Given the description of an element on the screen output the (x, y) to click on. 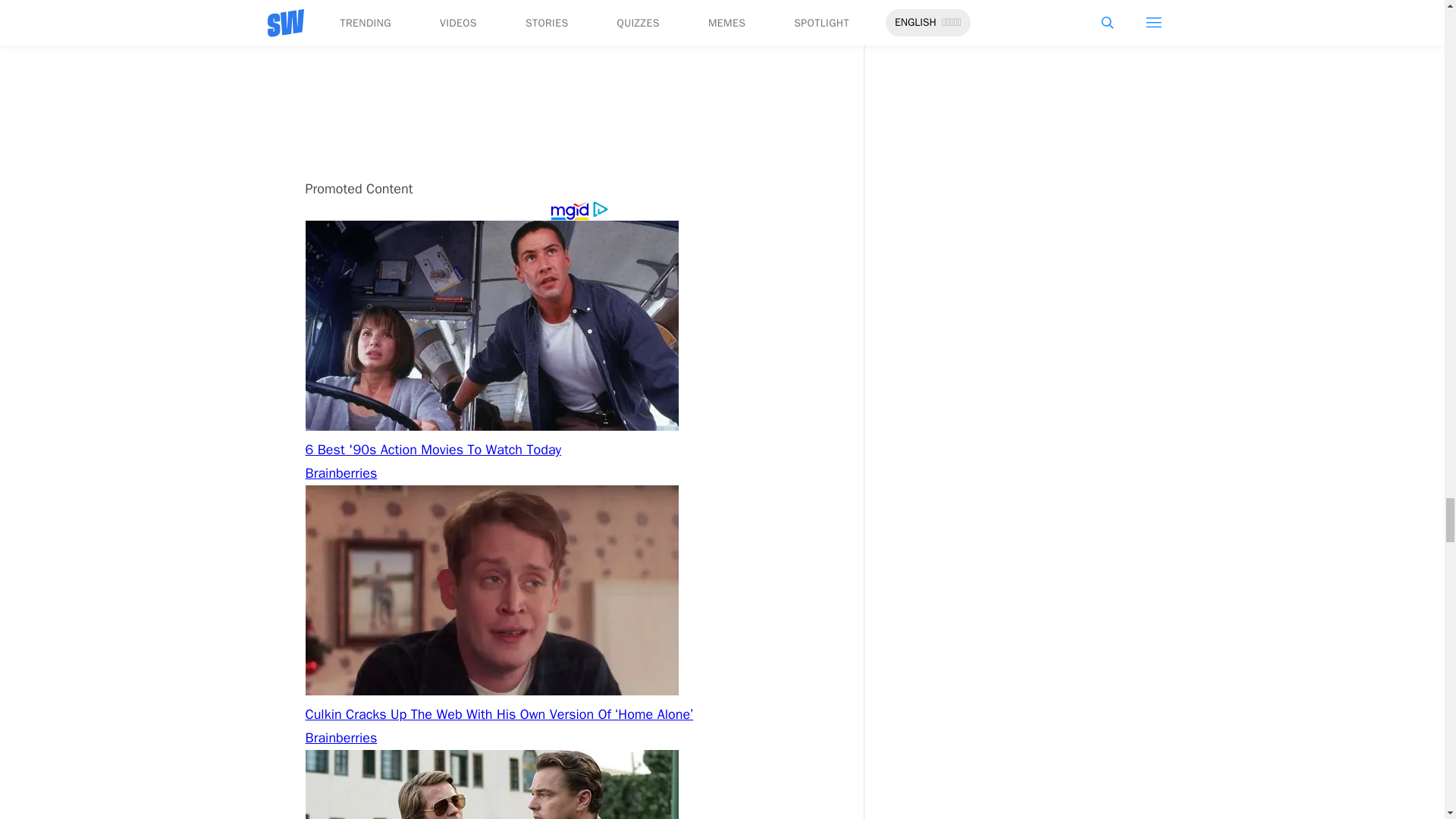
3rd party ad content (577, 82)
